Given the description of an element on the screen output the (x, y) to click on. 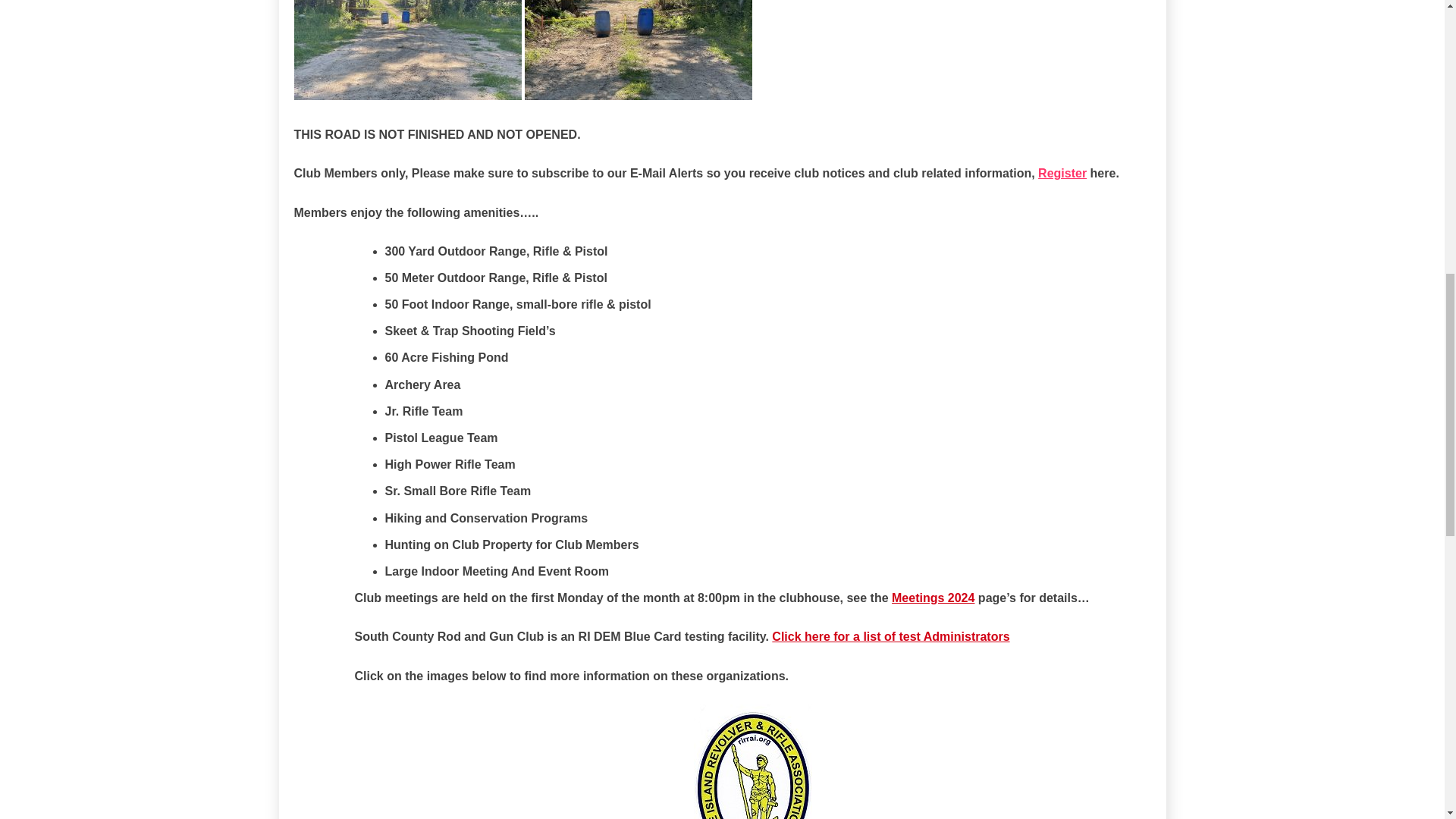
Click here for a list of test Administrators (890, 635)
Meetings 2024 (932, 597)
Register (1062, 173)
